Given the description of an element on the screen output the (x, y) to click on. 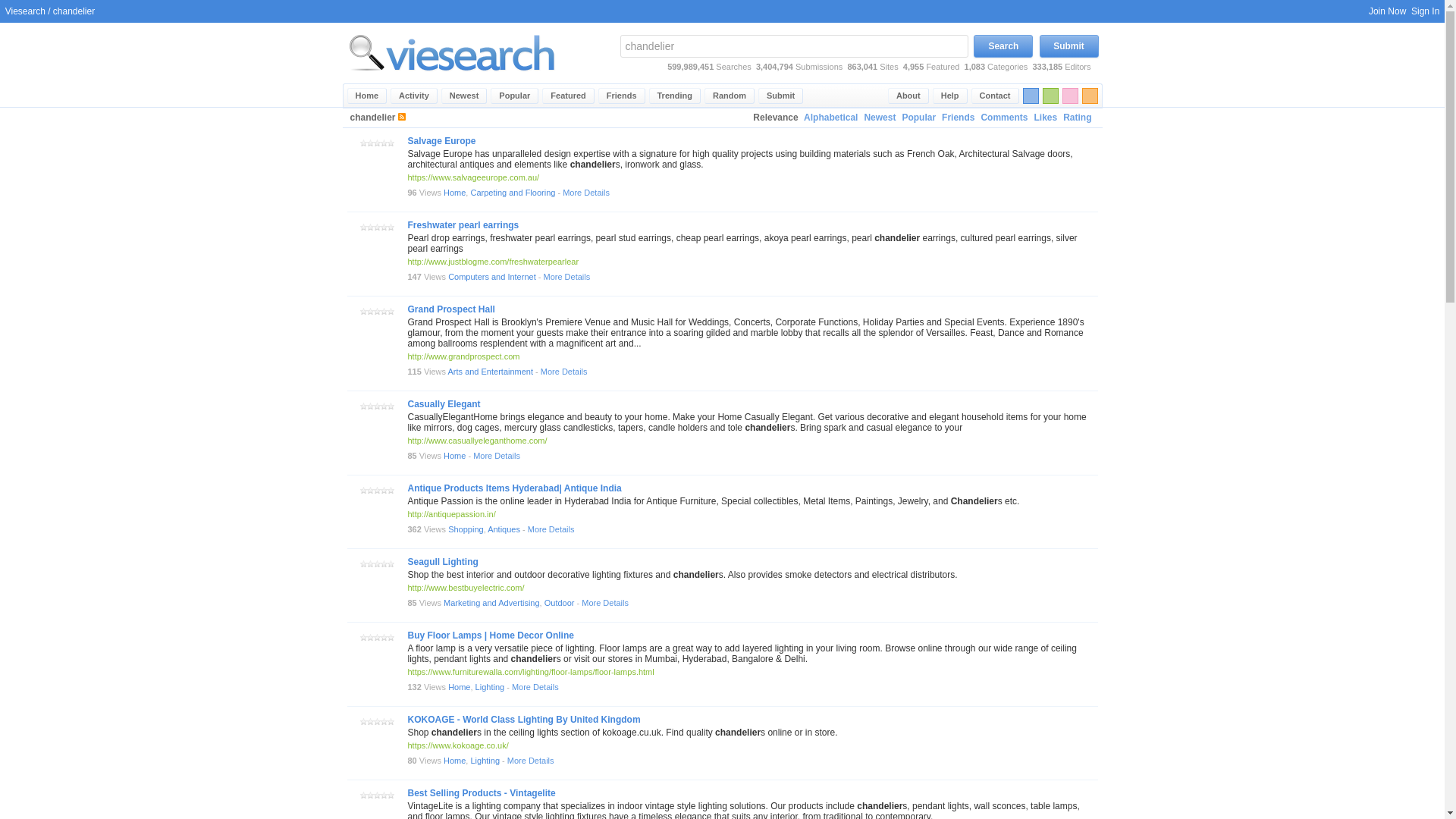
The top 50 longest featured sites in Viesearch (567, 95)
Search (1003, 46)
chandelier (794, 46)
Popular (918, 117)
Submit a new site (780, 95)
Submit (1068, 46)
Create a Username (1387, 10)
Home (367, 95)
Submit (780, 95)
Rating (1076, 117)
Switch this page to pink (1069, 95)
Switch this page to green (1050, 95)
Carpeting and Flooring (512, 192)
Contact Viesearch (995, 95)
The top 50 most viewed sites in Viesearch (514, 95)
